Given the description of an element on the screen output the (x, y) to click on. 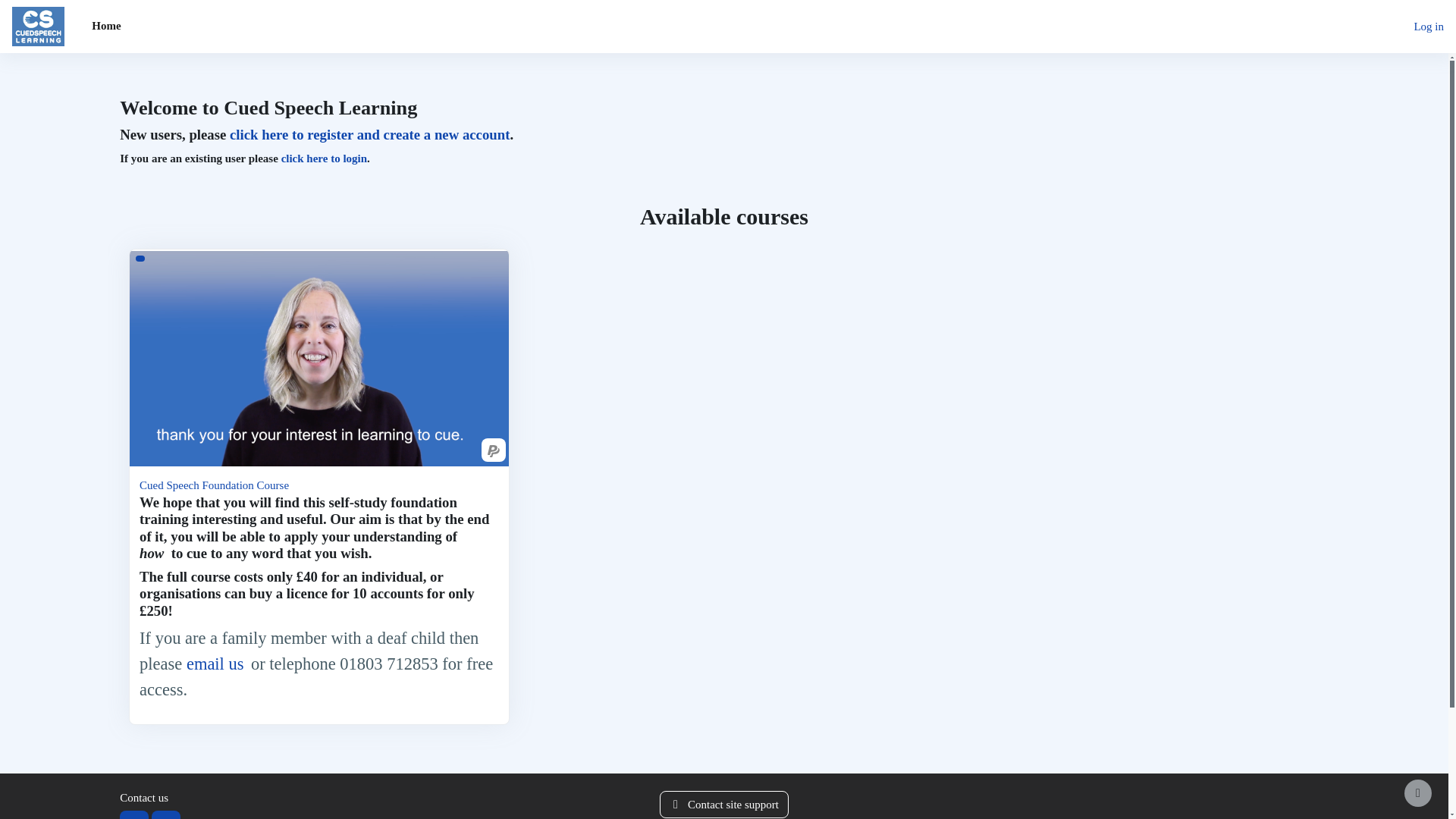
click here to register and create a new account (369, 133)
PayPal (493, 451)
email us (215, 663)
Cued Speech Foundation Course (213, 485)
Log in (1428, 27)
click here to login (323, 158)
Course image Cued Speech Foundation Course (318, 357)
